Given the description of an element on the screen output the (x, y) to click on. 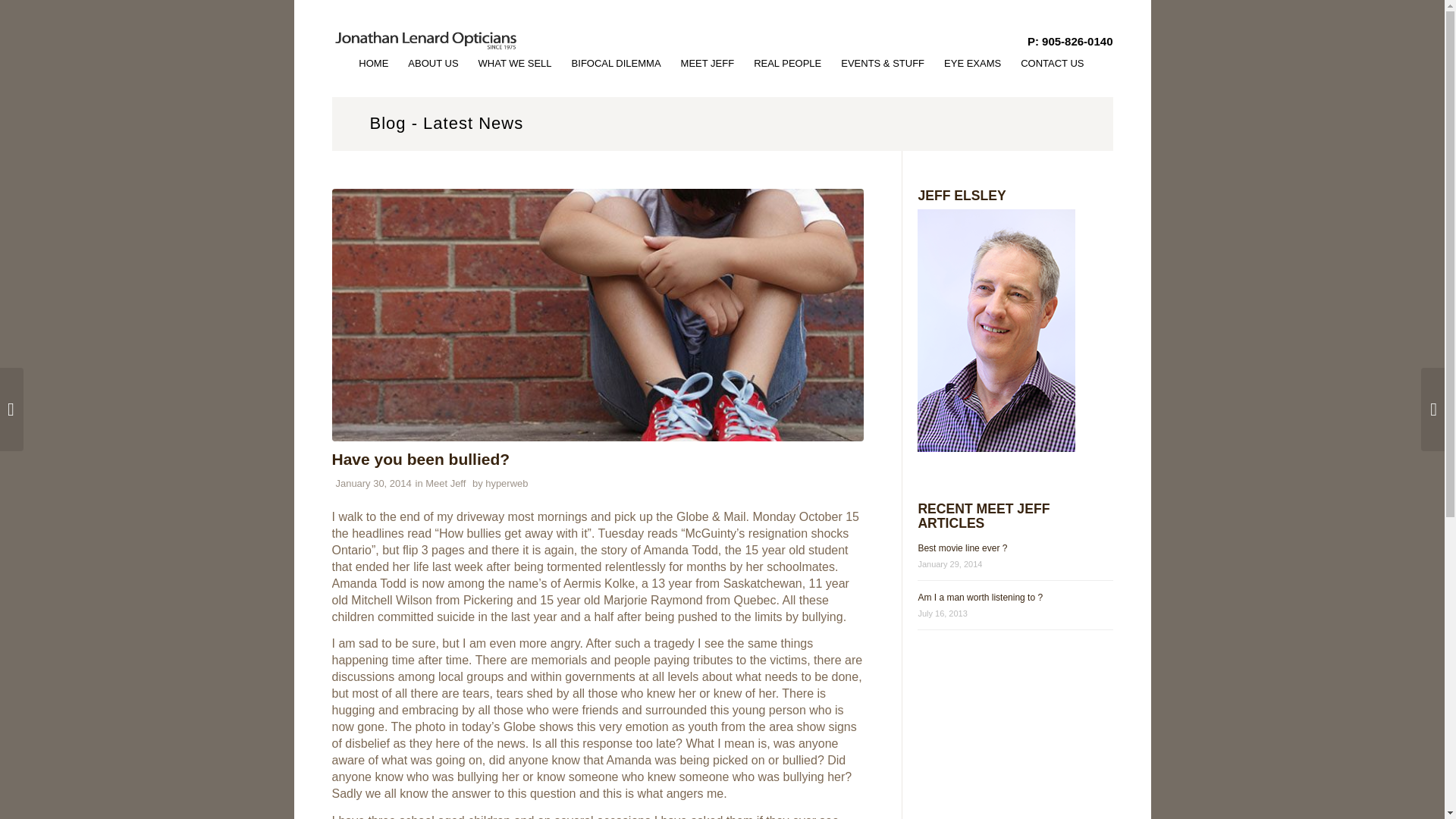
Permanent Link: Have you been bullied? (421, 458)
MEET JEFF (707, 63)
Meet Jeff (445, 482)
REAL PEOPLE (787, 63)
Permanent Link: Blog - Latest News (446, 122)
Have you been bullied? (421, 458)
Posts by hyperweb (505, 482)
Blog - Latest News (446, 122)
hyperweb (505, 482)
WHAT WE SELL (515, 63)
BIFOCAL DILEMMA (616, 63)
ABOUT US (432, 63)
